Given the description of an element on the screen output the (x, y) to click on. 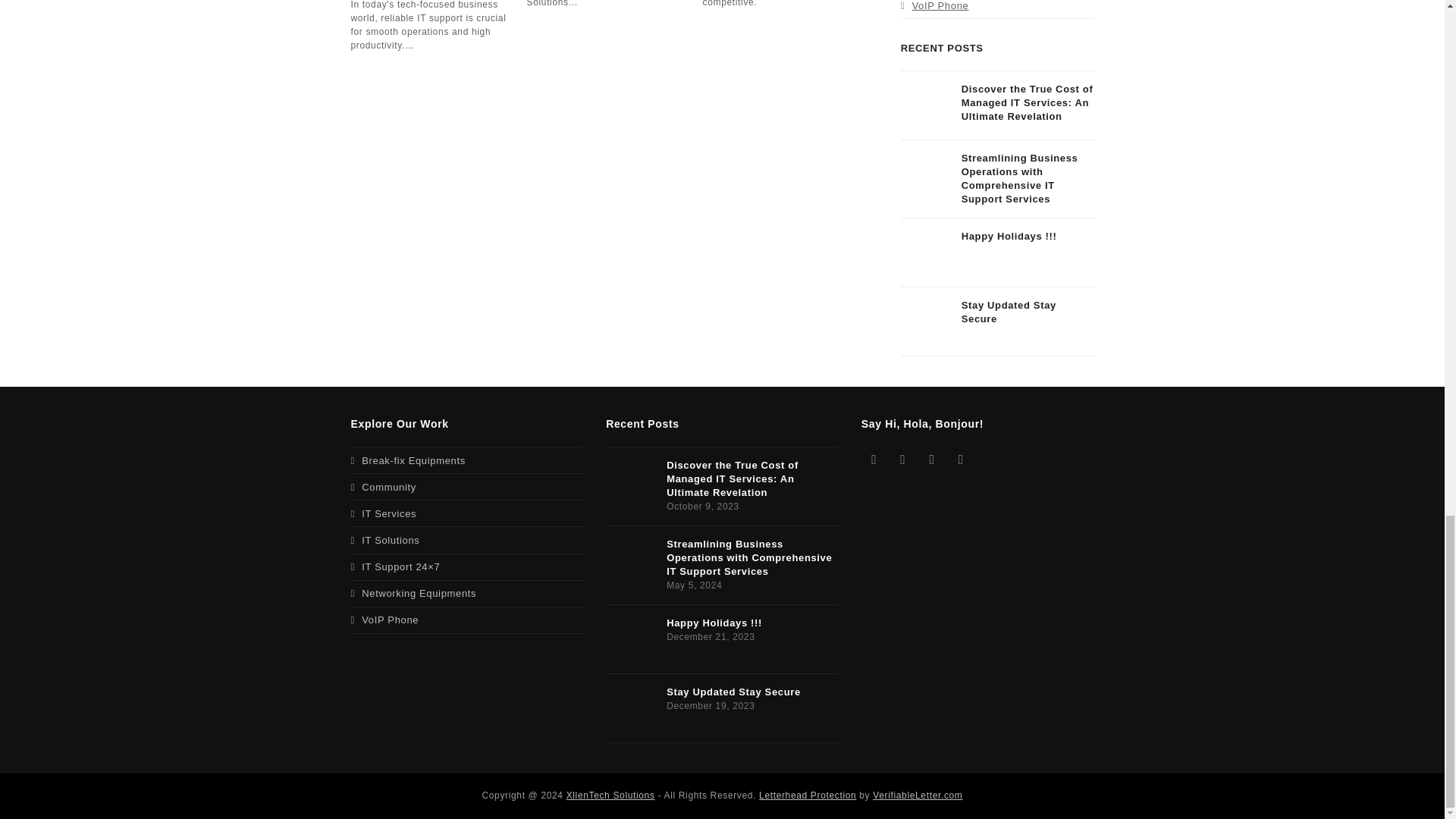
LinkedIn (959, 458)
Instagram (930, 458)
Twitter (873, 458)
Facebook (902, 458)
